Given the description of an element on the screen output the (x, y) to click on. 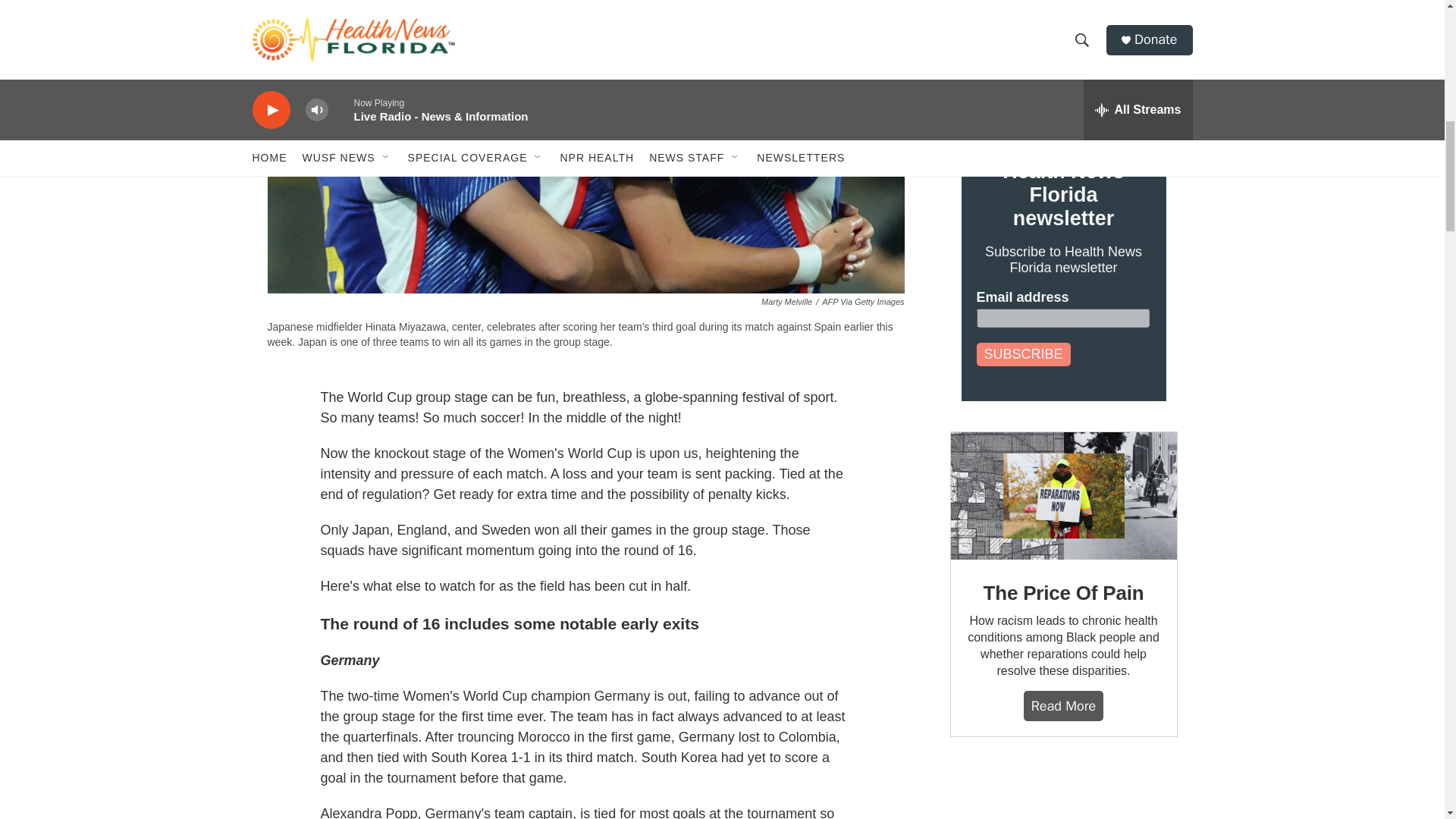
3rd party ad content (1062, 793)
